Given the description of an element on the screen output the (x, y) to click on. 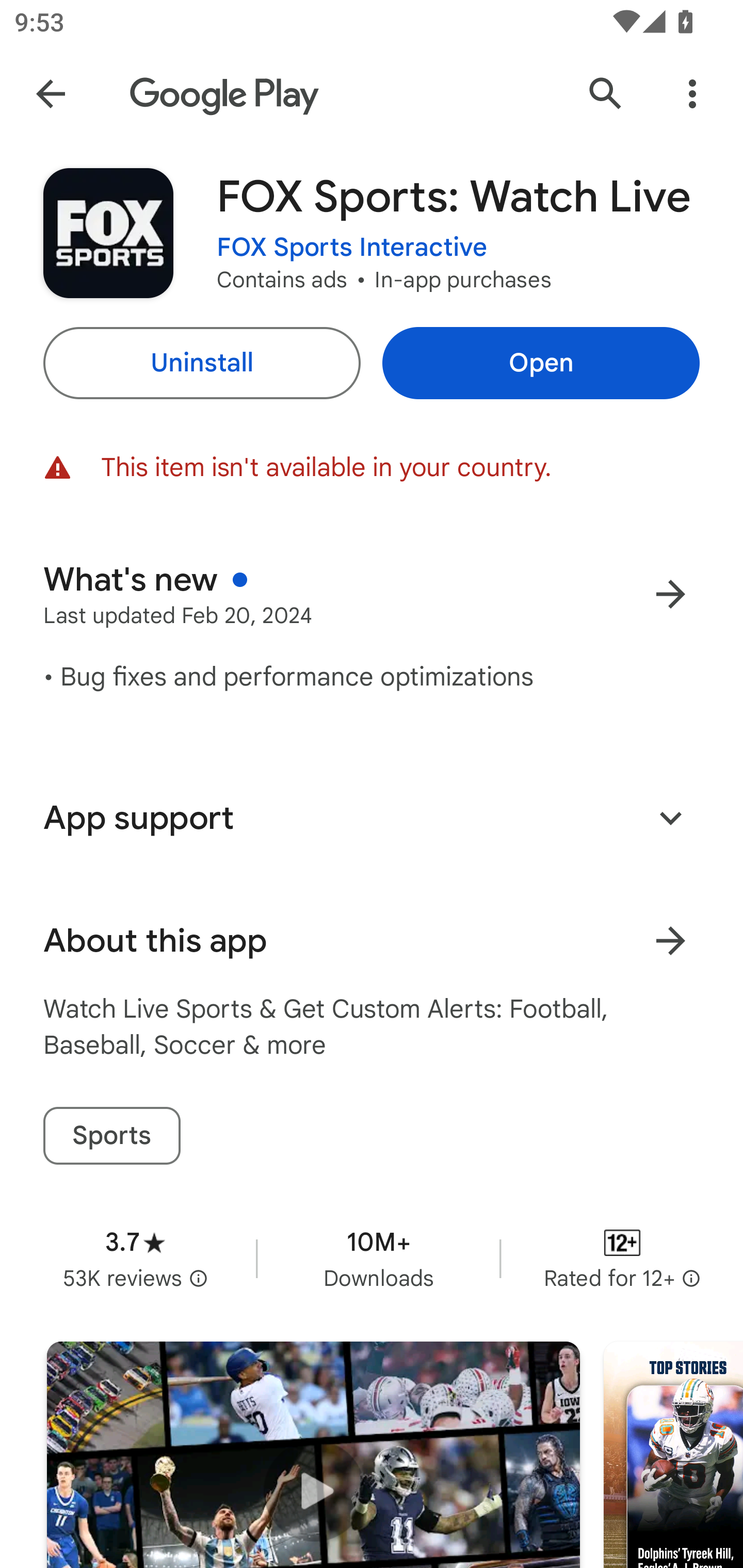
Navigate up (50, 93)
Search Google Play (605, 93)
More Options (692, 93)
FOX Sports Interactive (351, 247)
Uninstall (201, 362)
Open (540, 362)
More results for What's new (670, 594)
App support Expand (371, 817)
Expand (670, 817)
About this app Learn more About this app (371, 940)
Learn more About this app (670, 940)
Sports tag (111, 1135)
Average rating 3.7 stars in 53 thousand reviews (135, 1258)
Content rating Rated for 12+ (622, 1258)
Play trailer for "FOX Sports: Watch Live" (313, 1455)
